Given the description of an element on the screen output the (x, y) to click on. 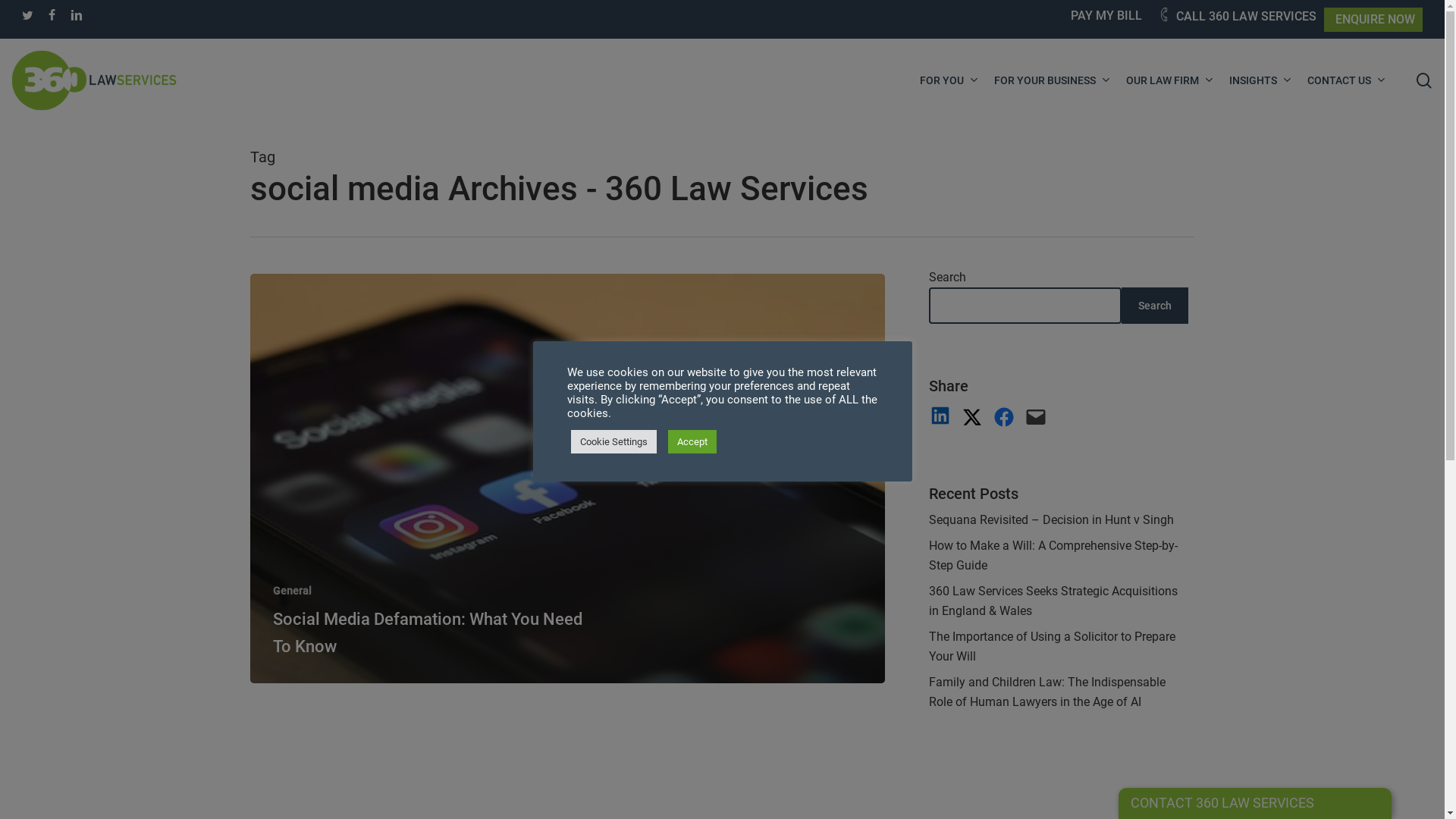
Share on X Element type: text (971, 416)
Search Element type: text (1154, 305)
Share on LinkedIn Element type: text (939, 415)
CONTACT 360 LAW SERVICES Element type: text (1222, 802)
TWITTER Element type: text (27, 15)
Accept Element type: text (691, 440)
FOR YOU Element type: text (949, 80)
FACEBOOK Element type: text (51, 15)
How to Make a Will: A Comprehensive Step-by-Step Guide Element type: text (1058, 555)
Social Media Defamation: What You Need To Know Element type: text (427, 632)
Email this Page Element type: text (1035, 416)
Cookie Settings Element type: text (612, 440)
CALL 360 LAW SERVICES Element type: text (1236, 16)
ENQUIRE NOW Element type: text (1375, 19)
INSIGHTS Element type: text (1260, 80)
The Importance of Using a Solicitor to Prepare Your Will Element type: text (1058, 646)
Share on Facebook Element type: text (1003, 416)
CONTACT US Element type: text (1346, 80)
LINKEDIN Element type: text (76, 15)
General Element type: text (292, 590)
FOR YOUR BUSINESS Element type: text (1052, 80)
search Element type: text (1424, 80)
PAY MY BILL Element type: text (1106, 15)
OUR LAW FIRM Element type: text (1169, 80)
